Given the description of an element on the screen output the (x, y) to click on. 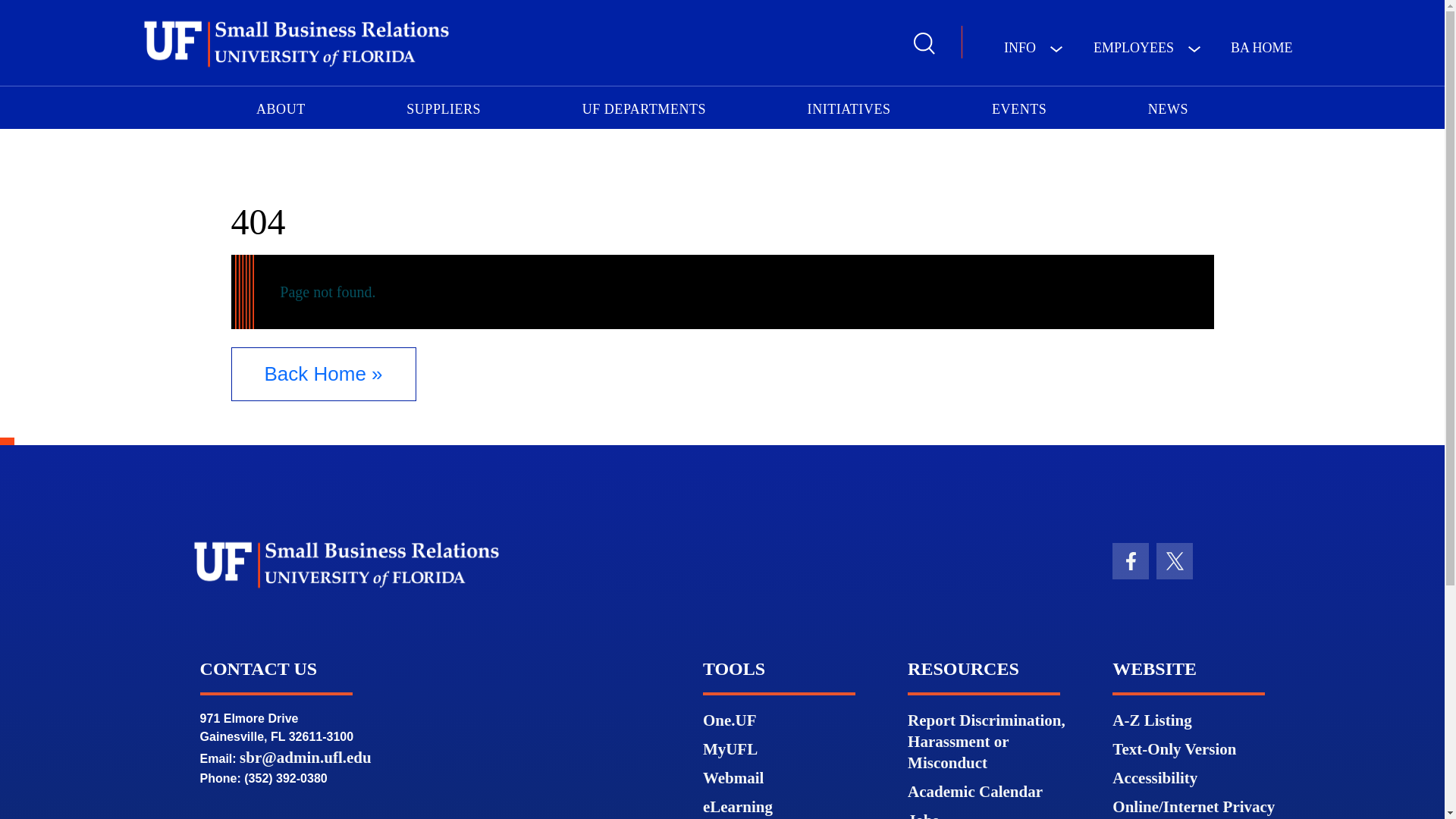
UF DEPARTMENTS (643, 106)
INITIATIVES (849, 106)
school-logo (295, 43)
School Logo Link (295, 44)
ABOUT (280, 106)
BA HOME (1261, 48)
SUPPLIERS (443, 106)
EVENTS (1018, 106)
school-logo (346, 564)
INFO (1032, 48)
EMPLOYEES (1146, 48)
